Given the description of an element on the screen output the (x, y) to click on. 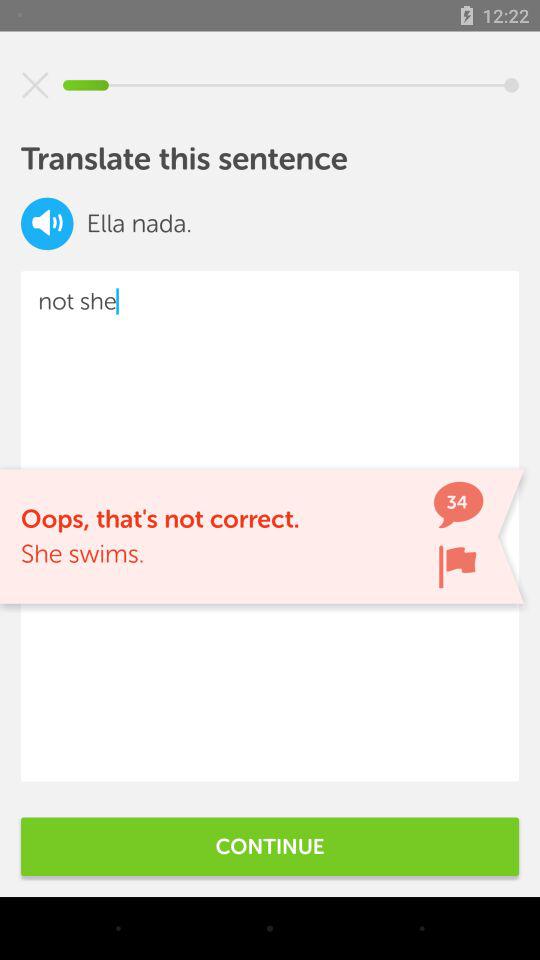
flag sentence error (457, 566)
